Given the description of an element on the screen output the (x, y) to click on. 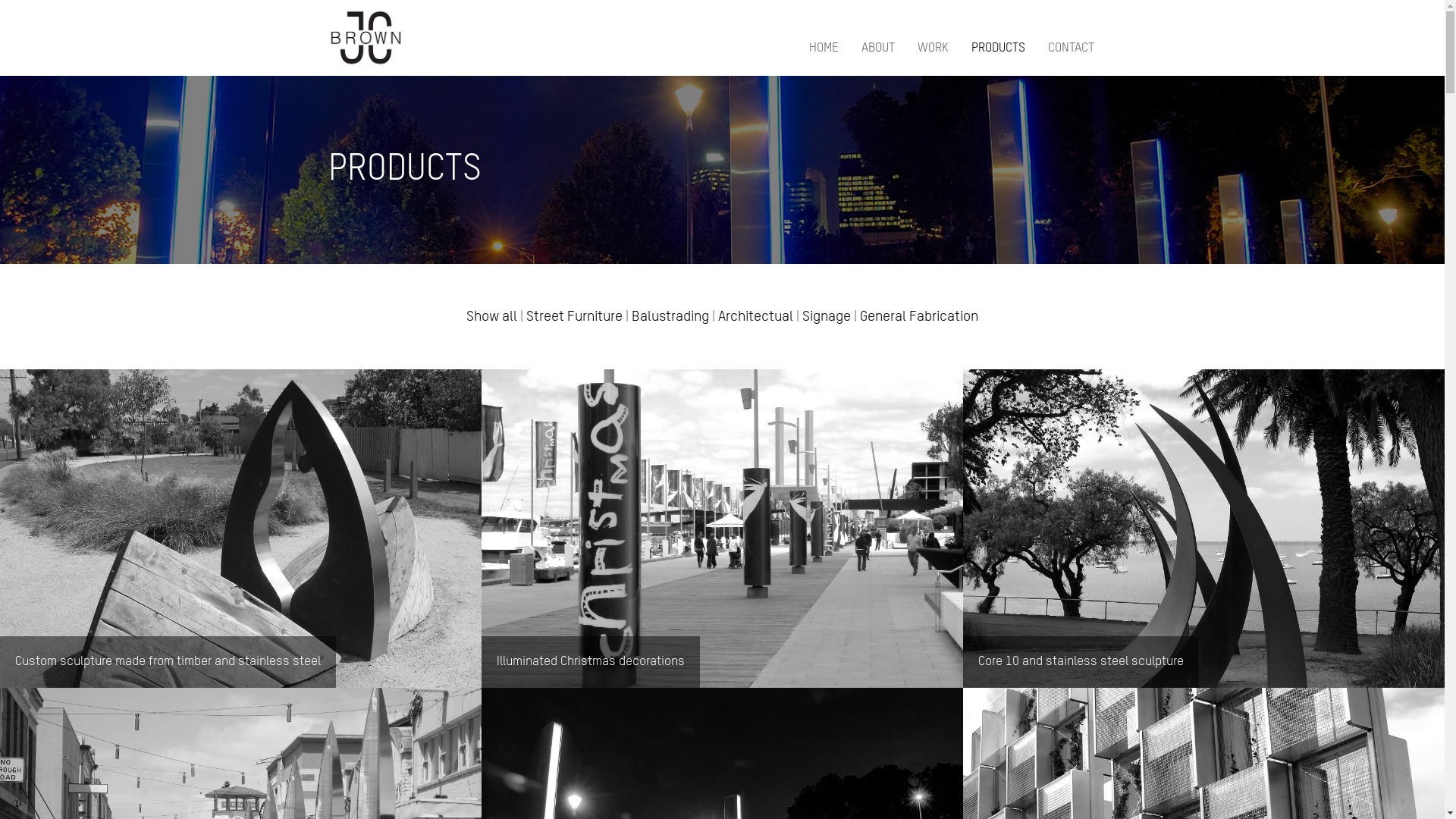
General Fabrication Element type: text (918, 316)
HOME Element type: text (822, 49)
SKIP TO CONTENT Element type: text (785, 42)
JC Brown Element type: hover (365, 37)
Balustrading Element type: text (670, 316)
Signage Element type: text (826, 316)
Street Furniture Element type: text (574, 316)
PRODUCTS Element type: text (997, 49)
ABOUT Element type: text (877, 49)
Architectual Element type: text (755, 316)
WORK Element type: text (932, 49)
Core 10 and stainless steel sculpture Element type: text (1203, 528)
CONTACT Element type: text (1071, 49)
Custom sculpture made from timber and stainless steel Element type: text (240, 528)
Show all Element type: text (491, 316)
Illuminated Christmas decorations Element type: text (722, 528)
